Given the description of an element on the screen output the (x, y) to click on. 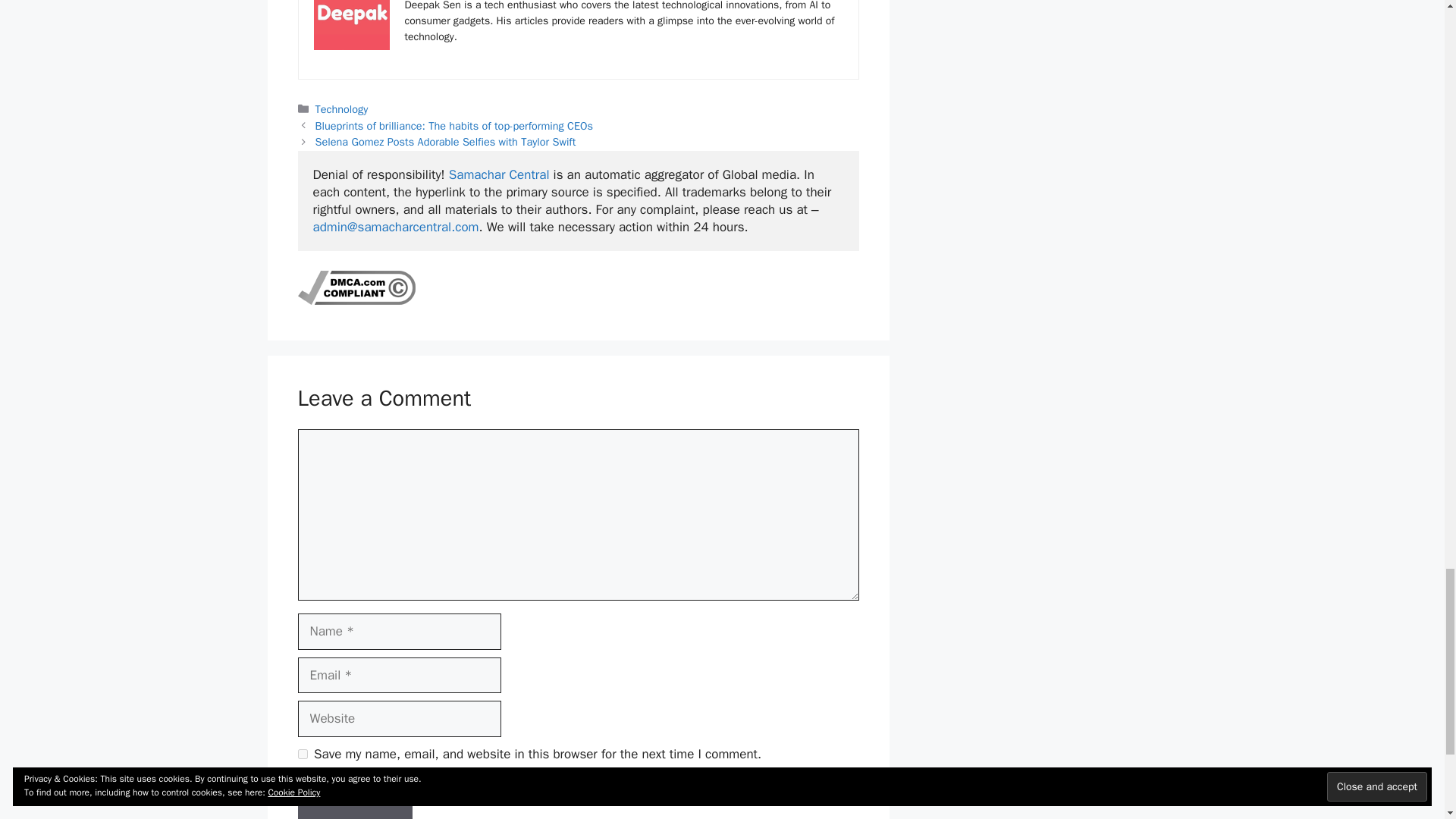
DMCA Compliance information for samacharcentral.com (355, 300)
Samachar Central (499, 174)
Blueprints of brilliance: The habits of top-performing CEOs (453, 125)
Technology (341, 109)
Selena Gomez Posts Adorable Selfies with Taylor Swift (445, 141)
Post Comment (354, 800)
yes (302, 754)
